Given the description of an element on the screen output the (x, y) to click on. 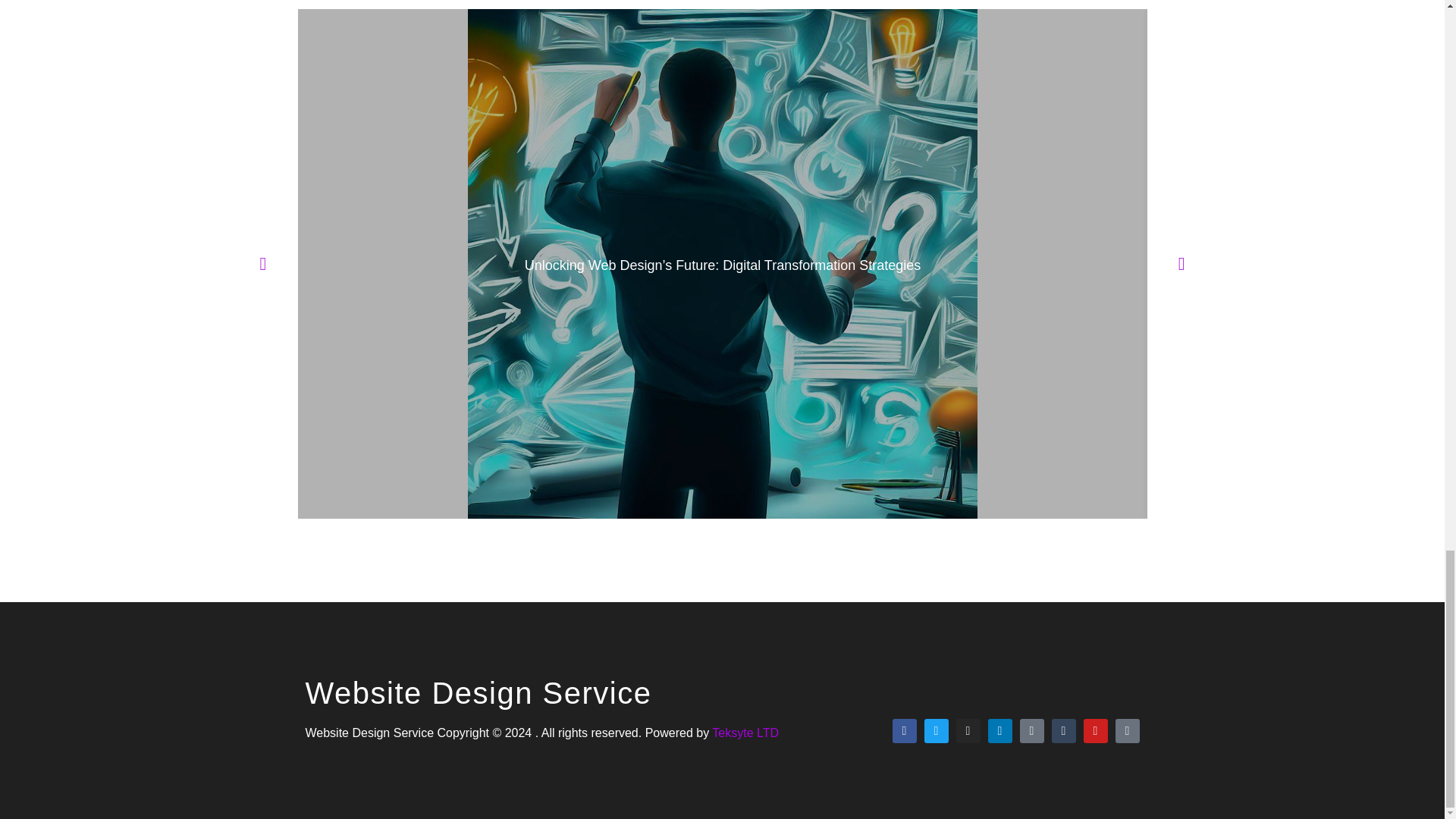
Teksyte LTD (744, 732)
